Given the description of an element on the screen output the (x, y) to click on. 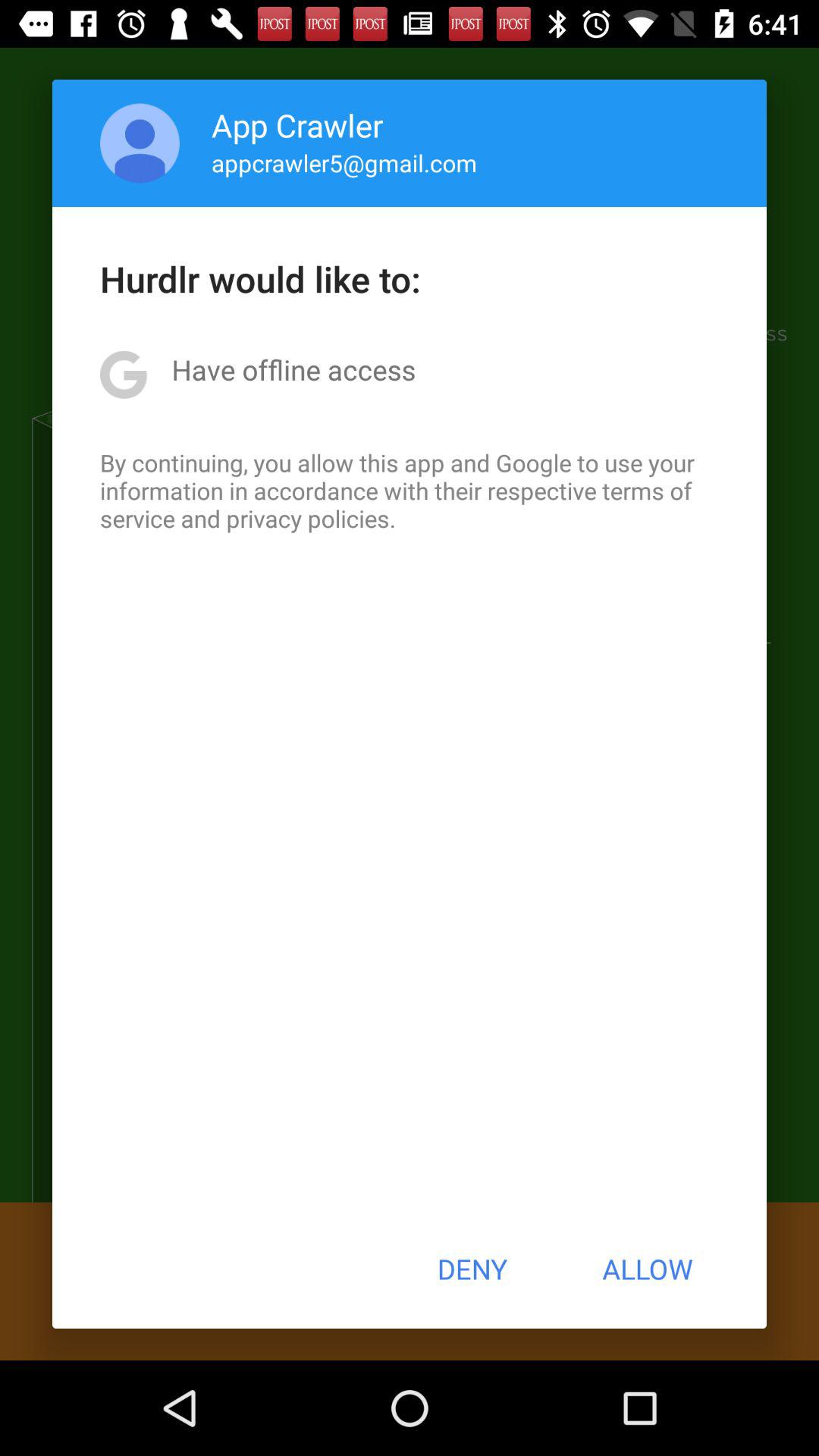
click the item below by continuing you icon (471, 1268)
